Given the description of an element on the screen output the (x, y) to click on. 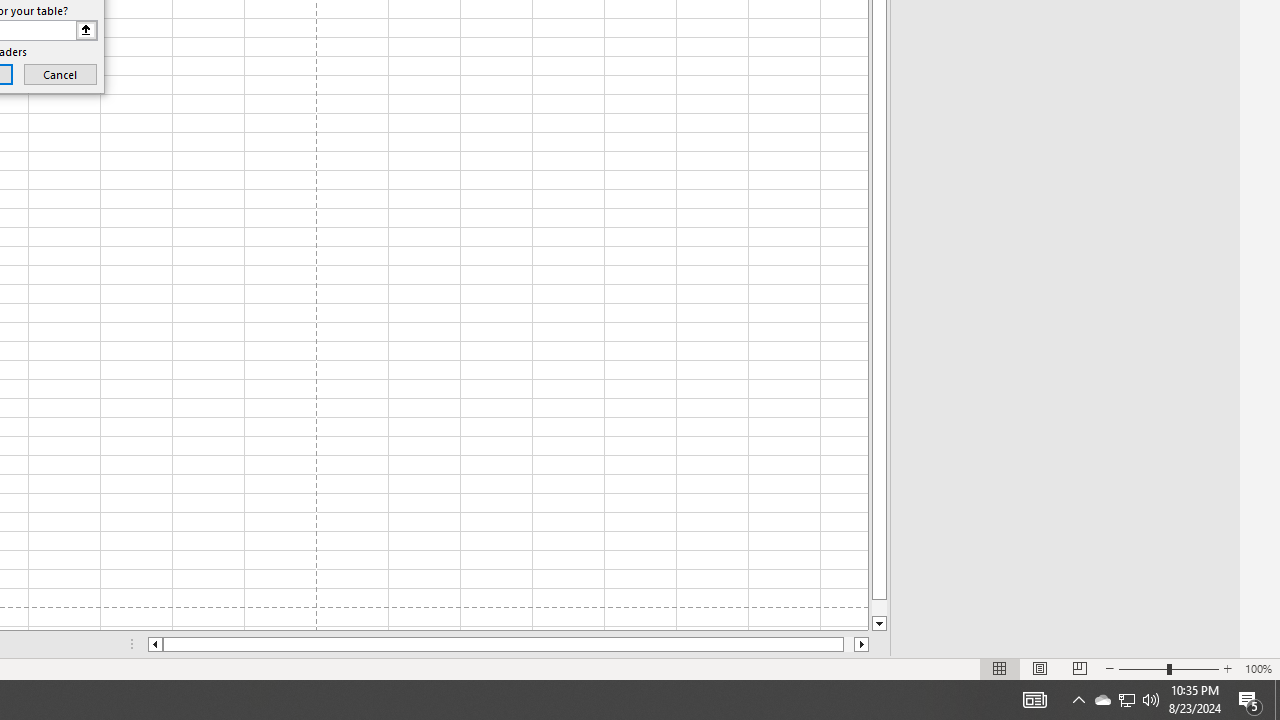
Page Layout (1039, 668)
Page right (848, 644)
Zoom In (1227, 668)
Line down (879, 624)
Column left (153, 644)
Page Break Preview (1079, 668)
Zoom (1168, 668)
Class: NetUIScrollBar (507, 644)
Normal (1000, 668)
Page down (879, 607)
Zoom Out (1142, 668)
Column right (861, 644)
